Given the description of an element on the screen output the (x, y) to click on. 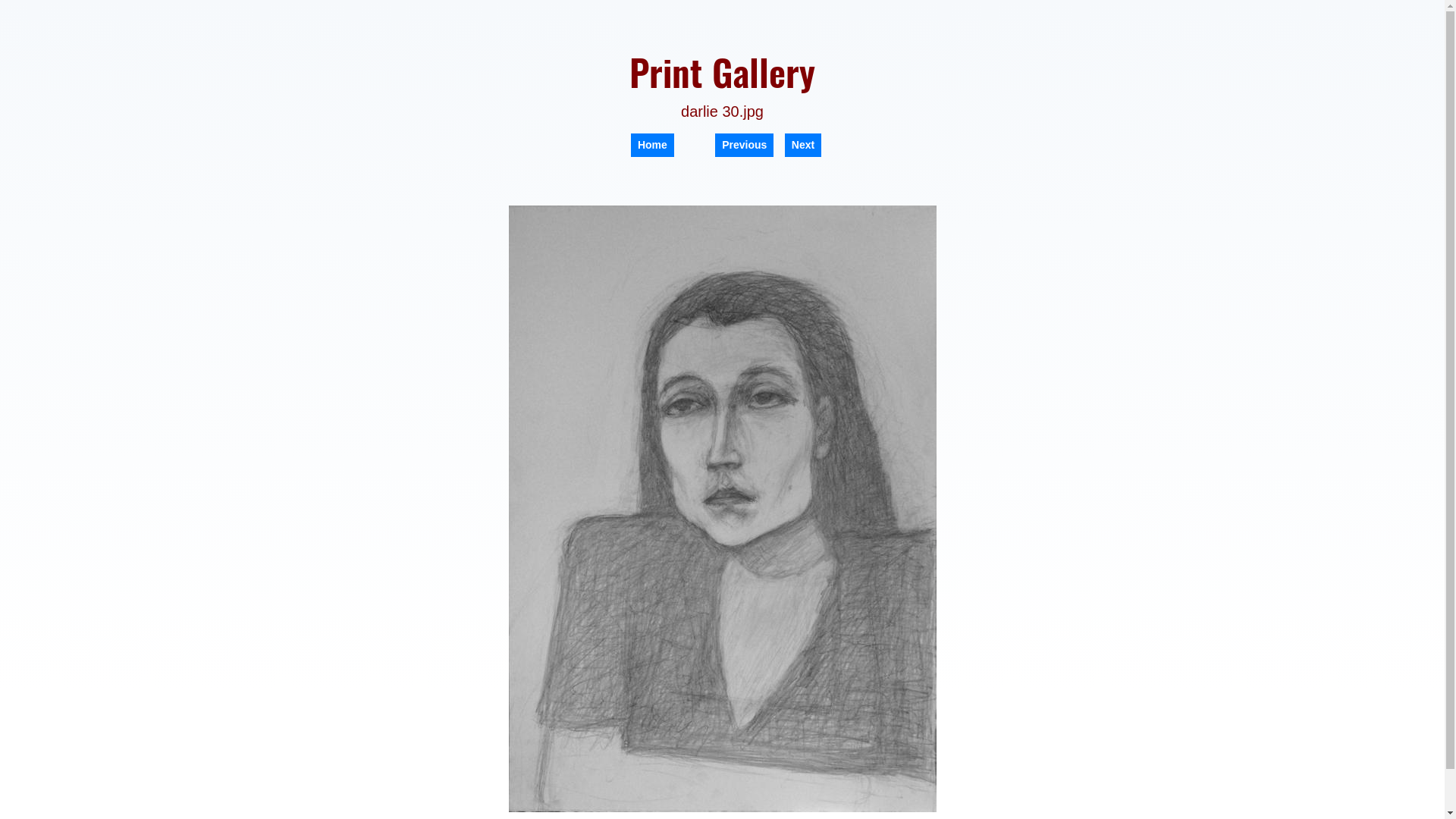
Previous Element type: text (744, 144)
Home Element type: text (652, 144)
Next Element type: text (802, 144)
